Given the description of an element on the screen output the (x, y) to click on. 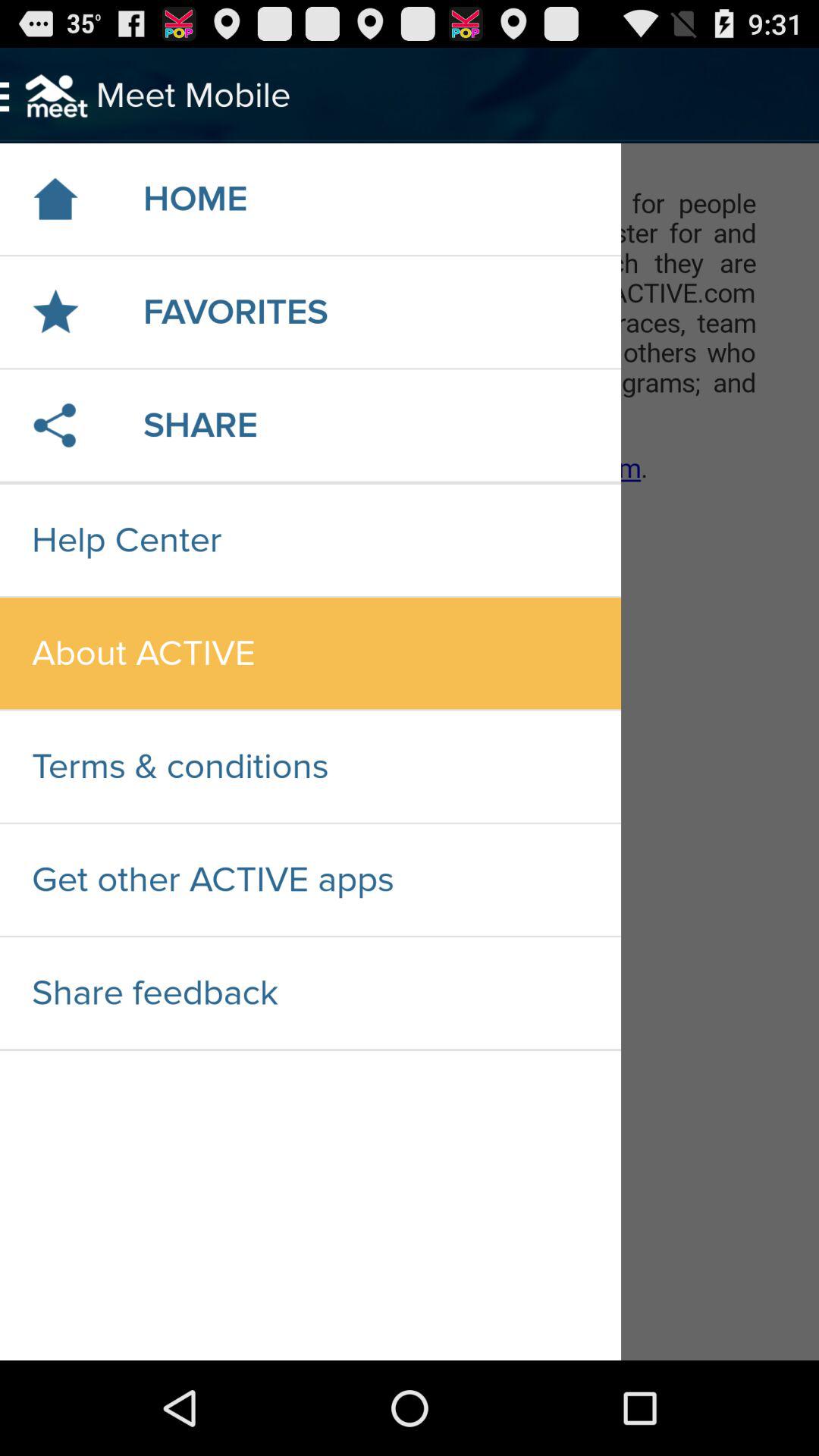
scroll to share feedback icon (310, 992)
